Given the description of an element on the screen output the (x, y) to click on. 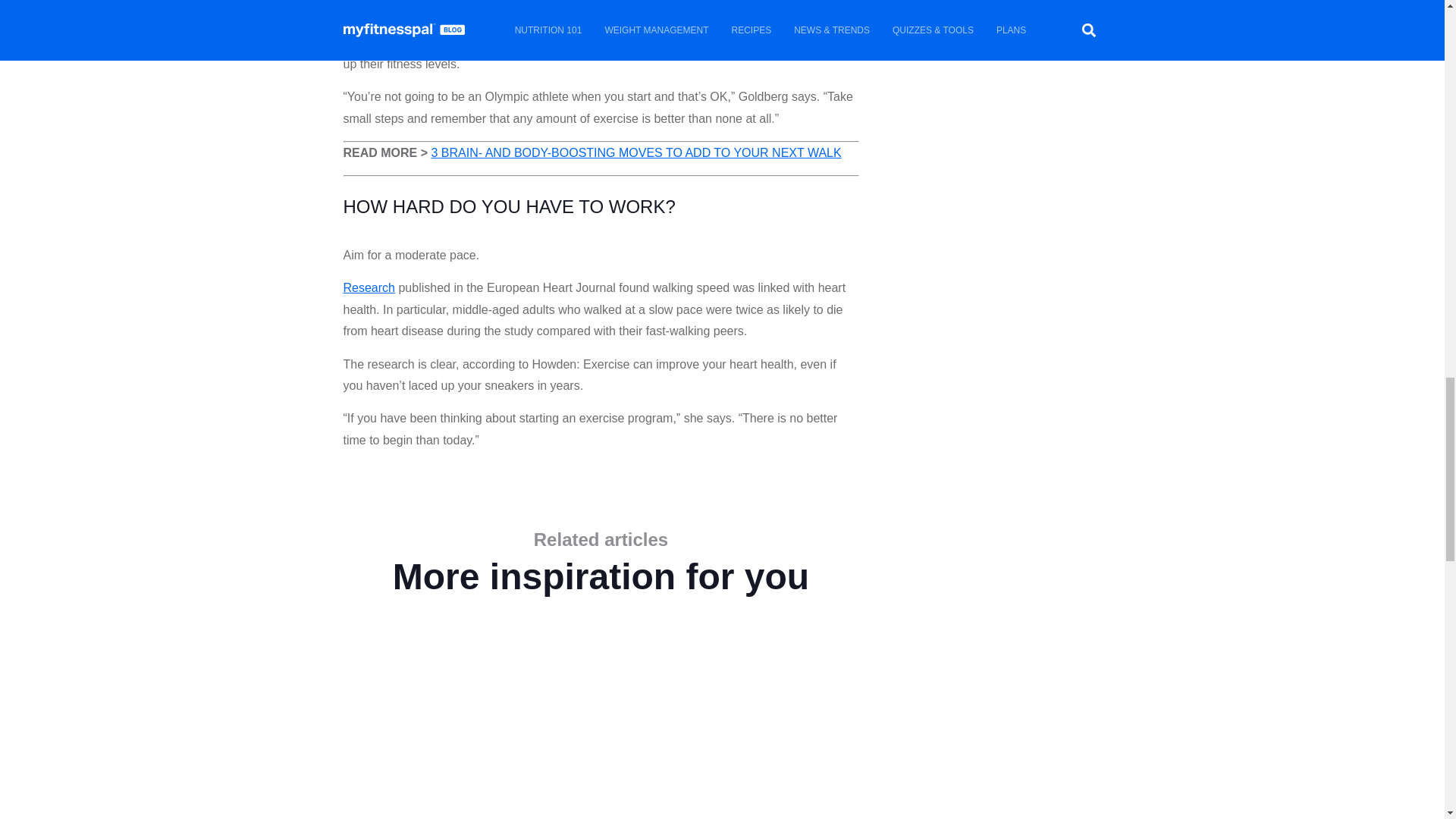
3rd party ad content (994, 94)
